Given the description of an element on the screen output the (x, y) to click on. 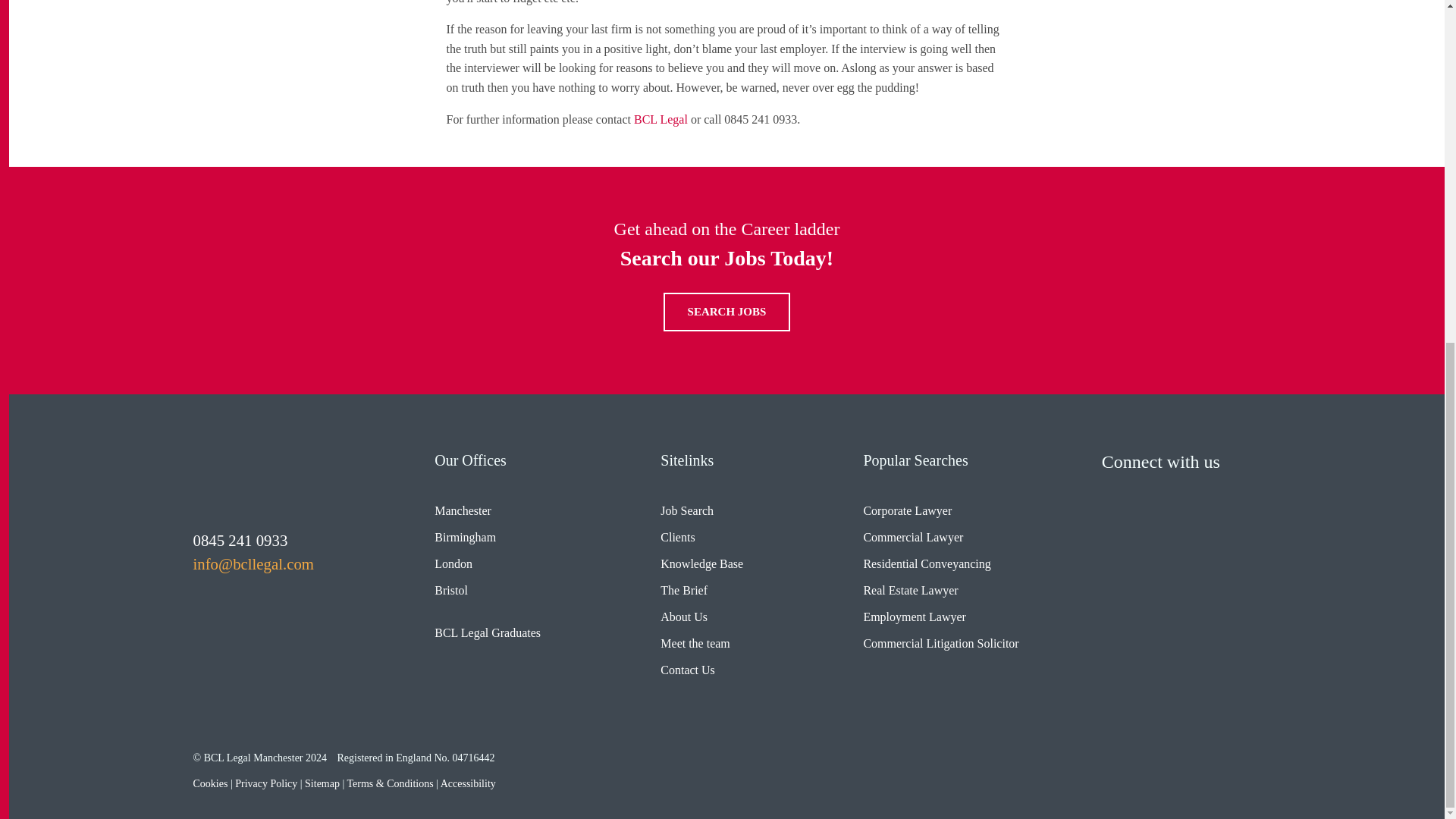
BCL Legal on Instagram (1207, 494)
BCL Legal on Twitter (1117, 494)
BCL Legal Recruitment (238, 477)
BCL Legal on LinkedIn (1162, 494)
